Given the description of an element on the screen output the (x, y) to click on. 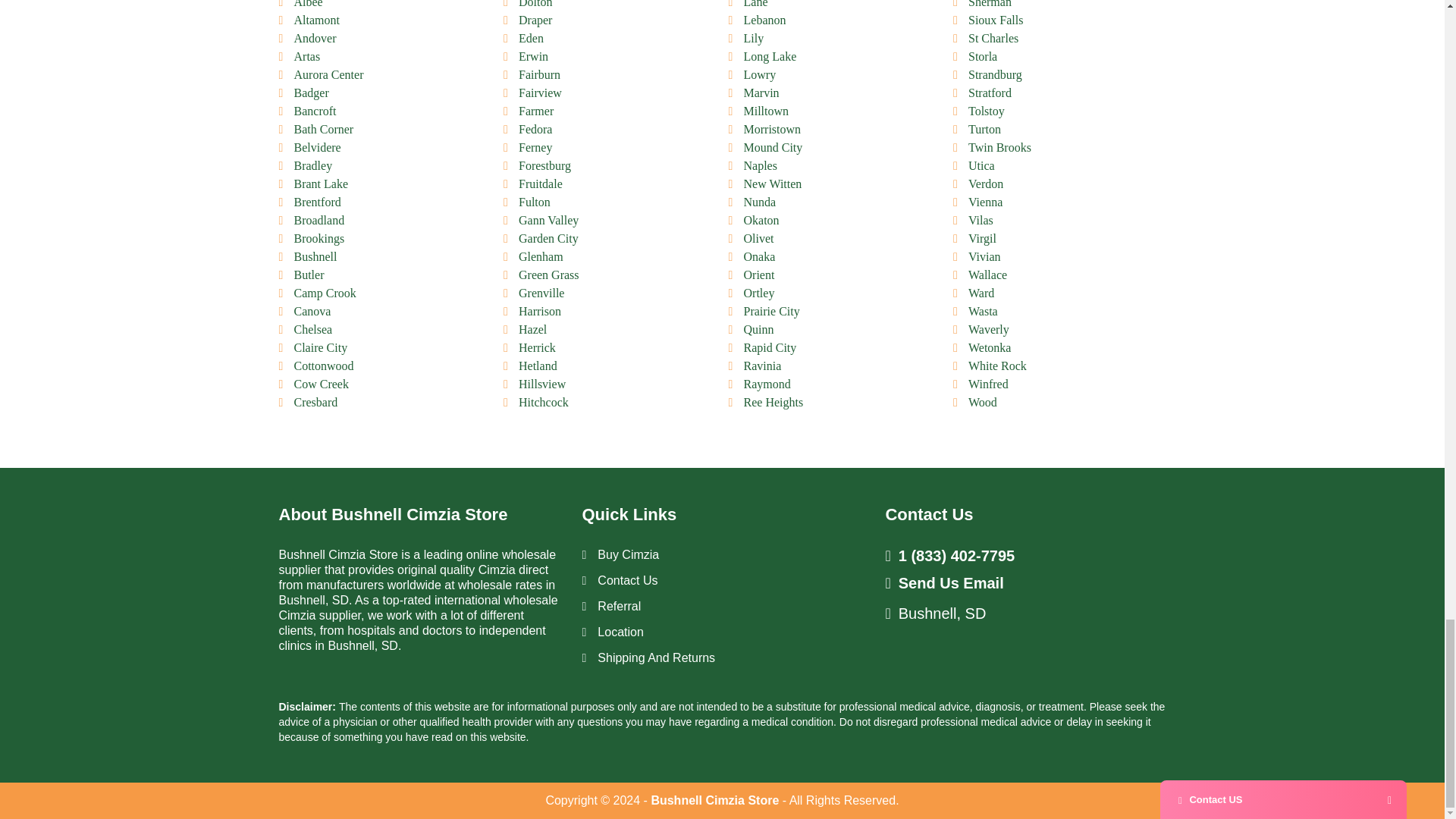
Camp Crook (325, 292)
Andover (315, 38)
Bushnell (315, 256)
Brant Lake (321, 183)
Aurora Center (329, 74)
Bradley (313, 164)
Brookings (319, 237)
Butler (309, 274)
Albee (308, 4)
Canova (312, 310)
Belvidere (317, 146)
Claire City (320, 347)
Brentford (317, 201)
Artas (307, 56)
Bancroft (315, 110)
